Given the description of an element on the screen output the (x, y) to click on. 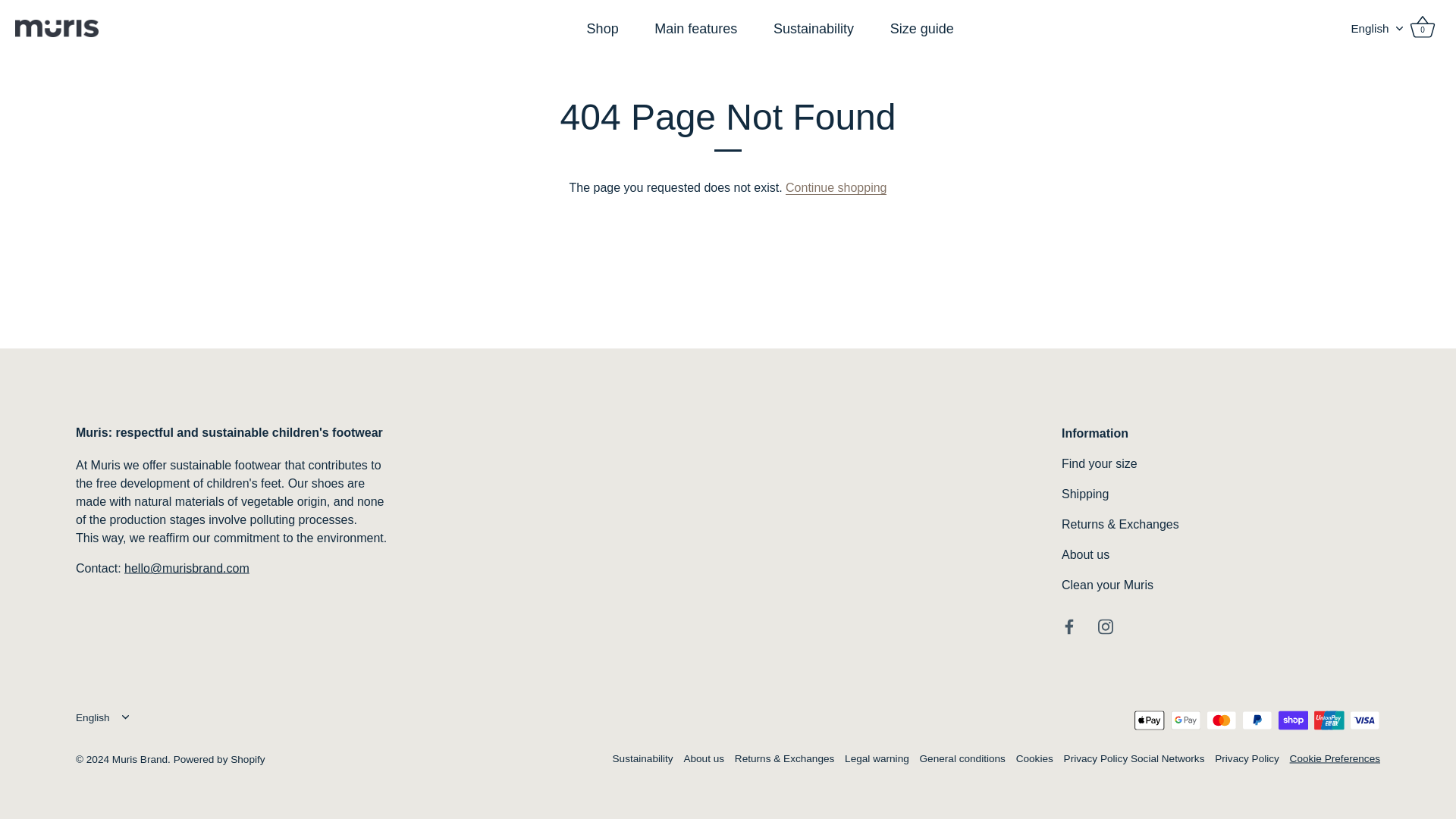
Sustainability (642, 758)
English (1384, 28)
Shop (602, 28)
Sustainability (813, 28)
Union Pay (1328, 720)
Shipping (1084, 492)
Google Pay (1185, 720)
Basket (1422, 26)
Instagram (1105, 625)
Size guide (921, 28)
Find your size (1099, 462)
Mastercard (1221, 720)
General conditions (963, 758)
Legal warning (876, 758)
Shipping (1084, 492)
